Given the description of an element on the screen output the (x, y) to click on. 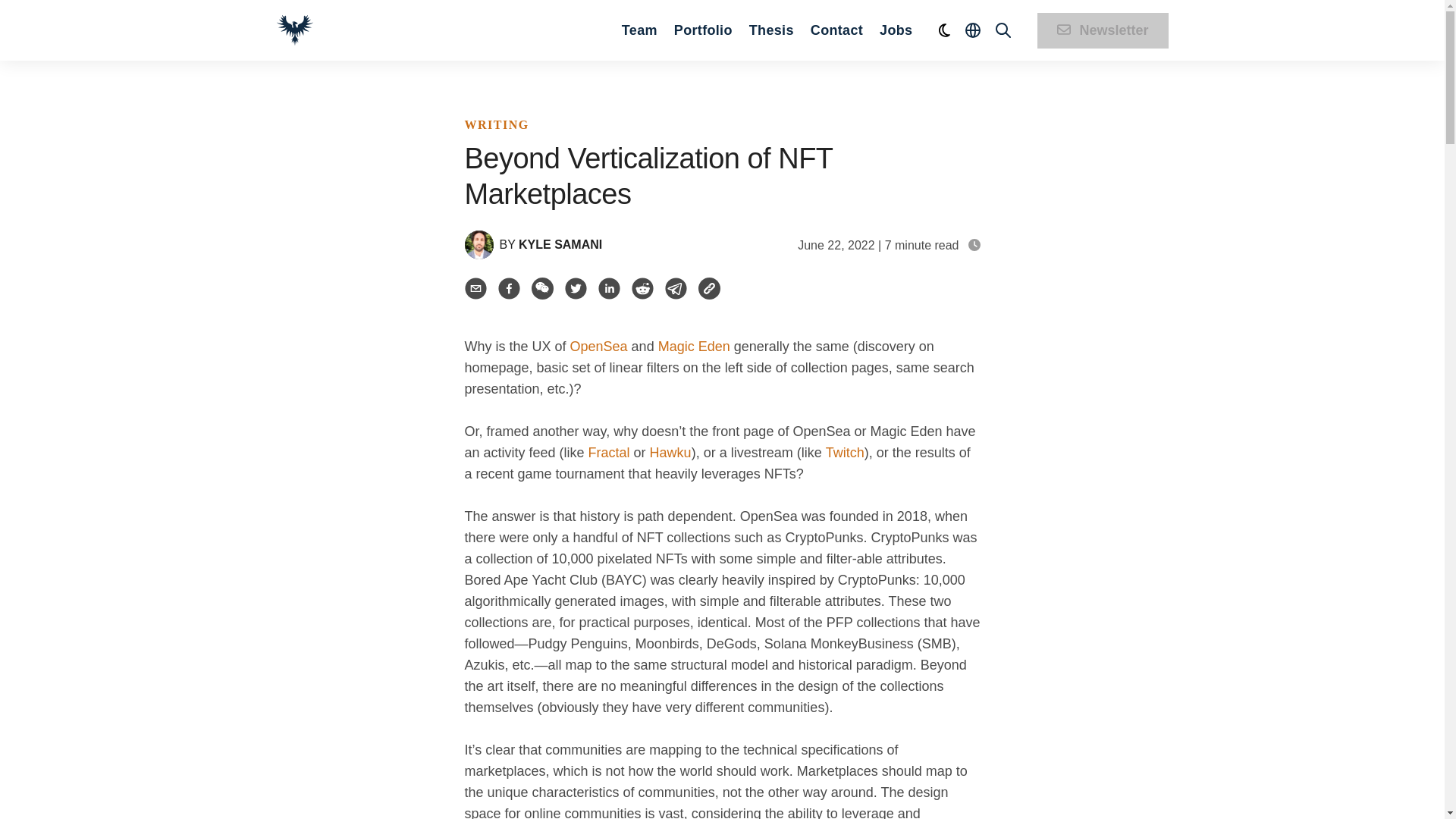
Newsletter (1101, 29)
Contact (836, 29)
Thesis (771, 29)
KYLE SAMANI (560, 244)
Portfolio (703, 29)
WRITING (496, 124)
OpenSea (598, 346)
OpenSea (598, 346)
Team (639, 29)
Jobs (895, 29)
